Given the description of an element on the screen output the (x, y) to click on. 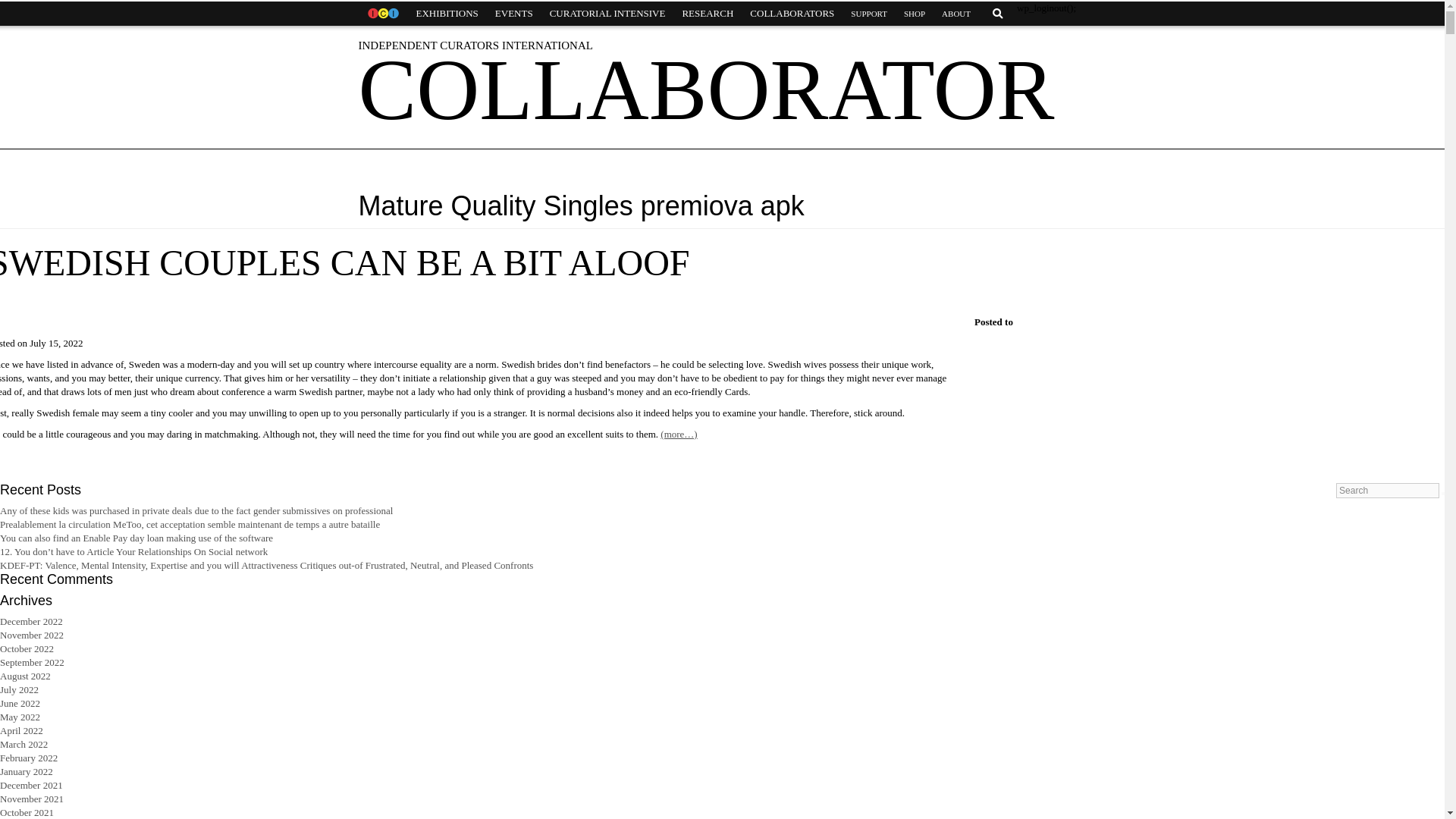
EVENTS (513, 13)
RESEARCH (706, 13)
COLLABORATORS (792, 13)
EXHIBITIONS (446, 13)
HOME (382, 13)
CURATORIAL INTENSIVE (607, 13)
